Given the description of an element on the screen output the (x, y) to click on. 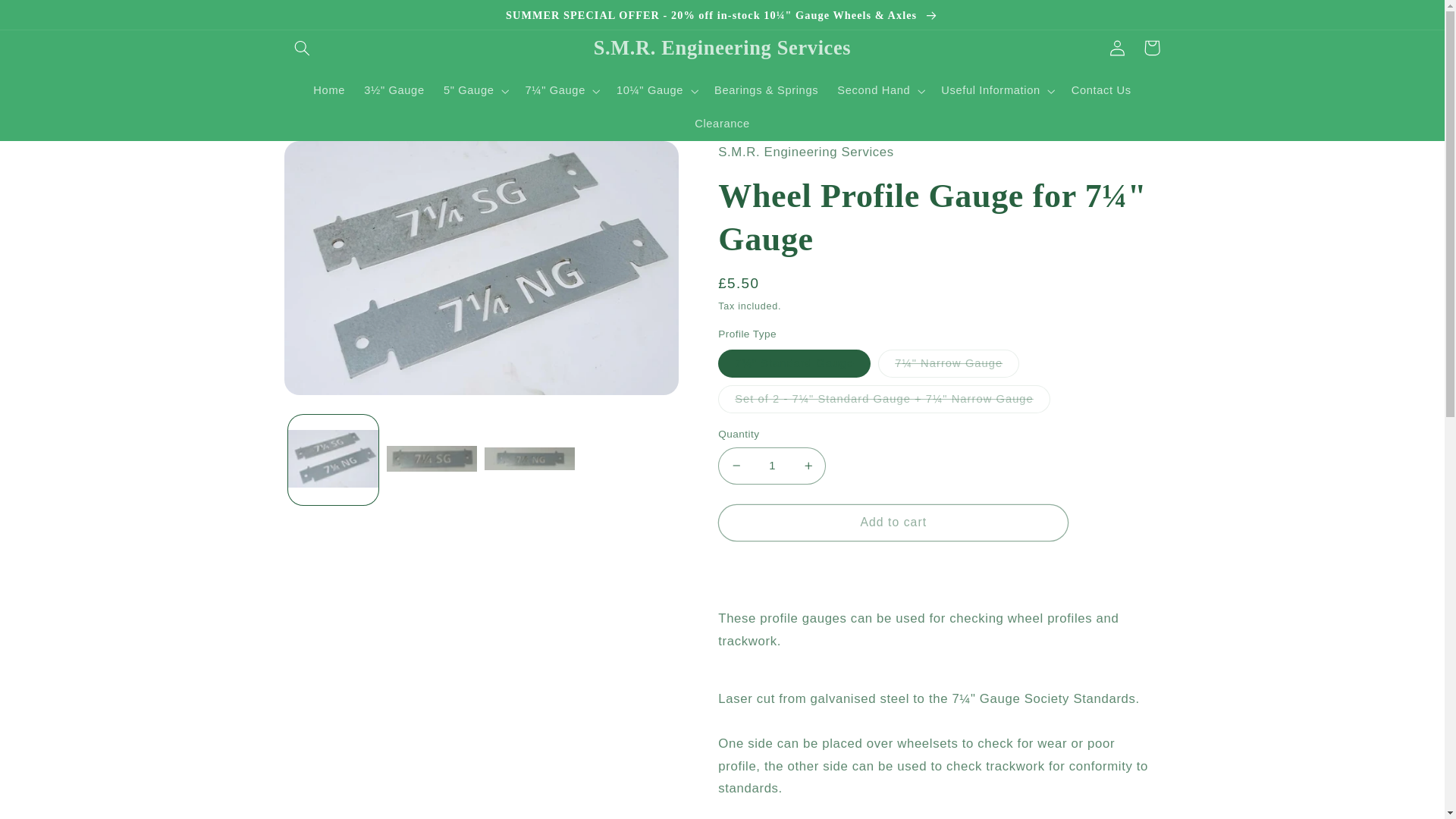
Skip to content (48, 18)
1 (771, 465)
